Given the description of an element on the screen output the (x, y) to click on. 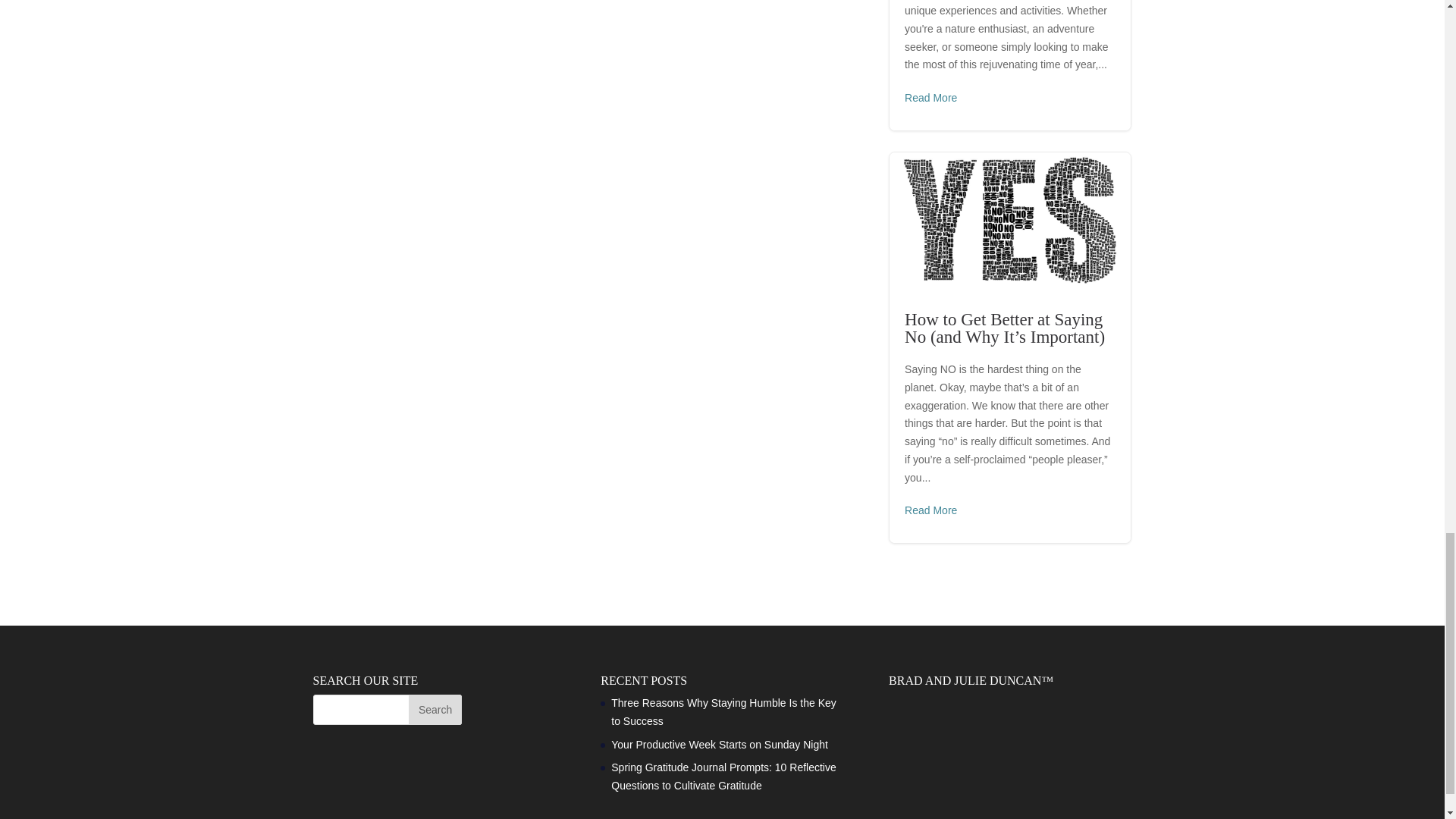
Search (435, 709)
Three Reasons Why Staying Humble Is the Key to Success  (723, 711)
Read More (930, 511)
Search (435, 709)
Your Productive Week Starts on Sunday Night  (721, 744)
Read More (930, 98)
